Given the description of an element on the screen output the (x, y) to click on. 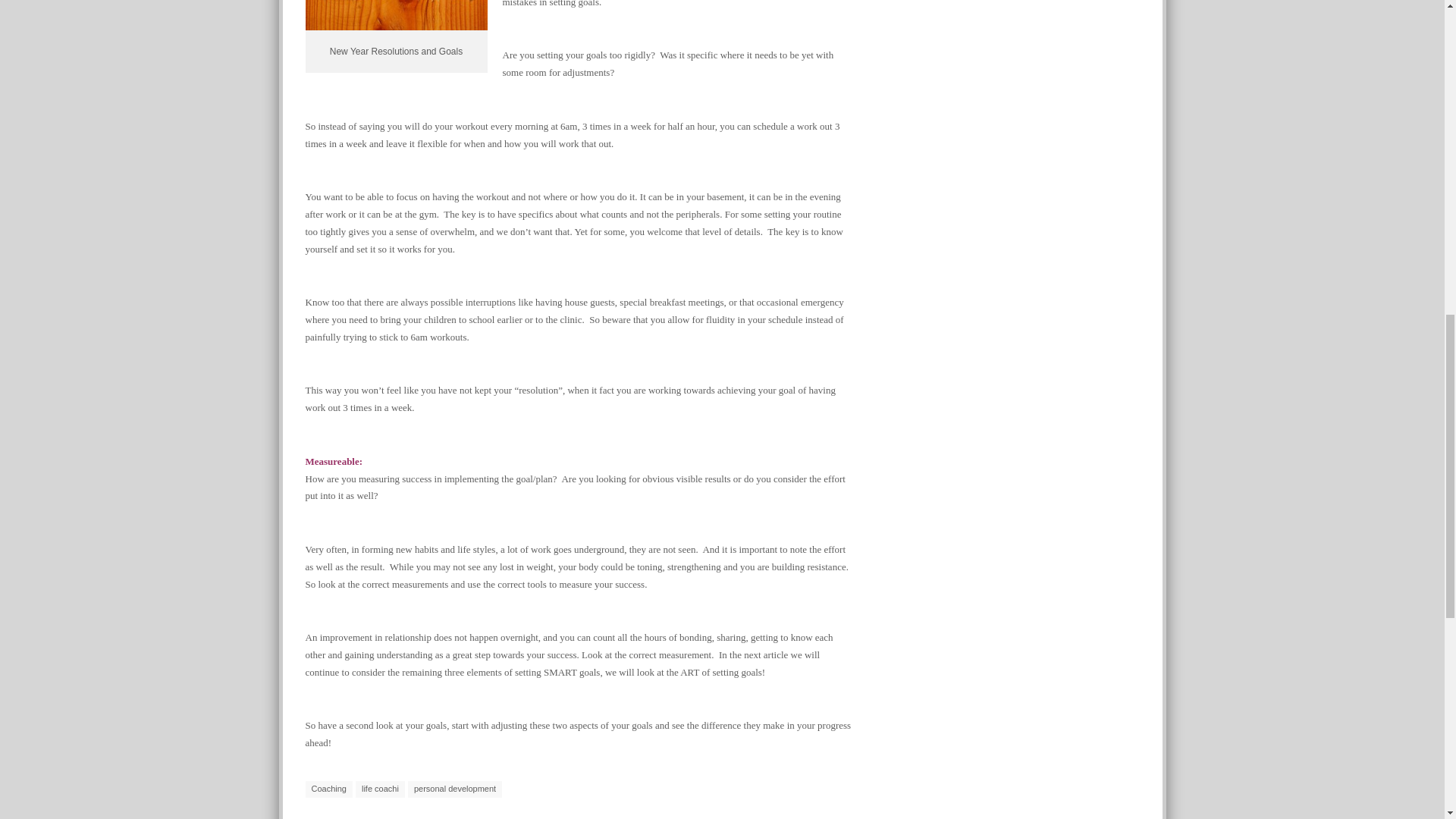
personal development (454, 789)
life coachi (379, 789)
Coaching (328, 789)
New Year Resolutions and Goals (395, 15)
